Given the description of an element on the screen output the (x, y) to click on. 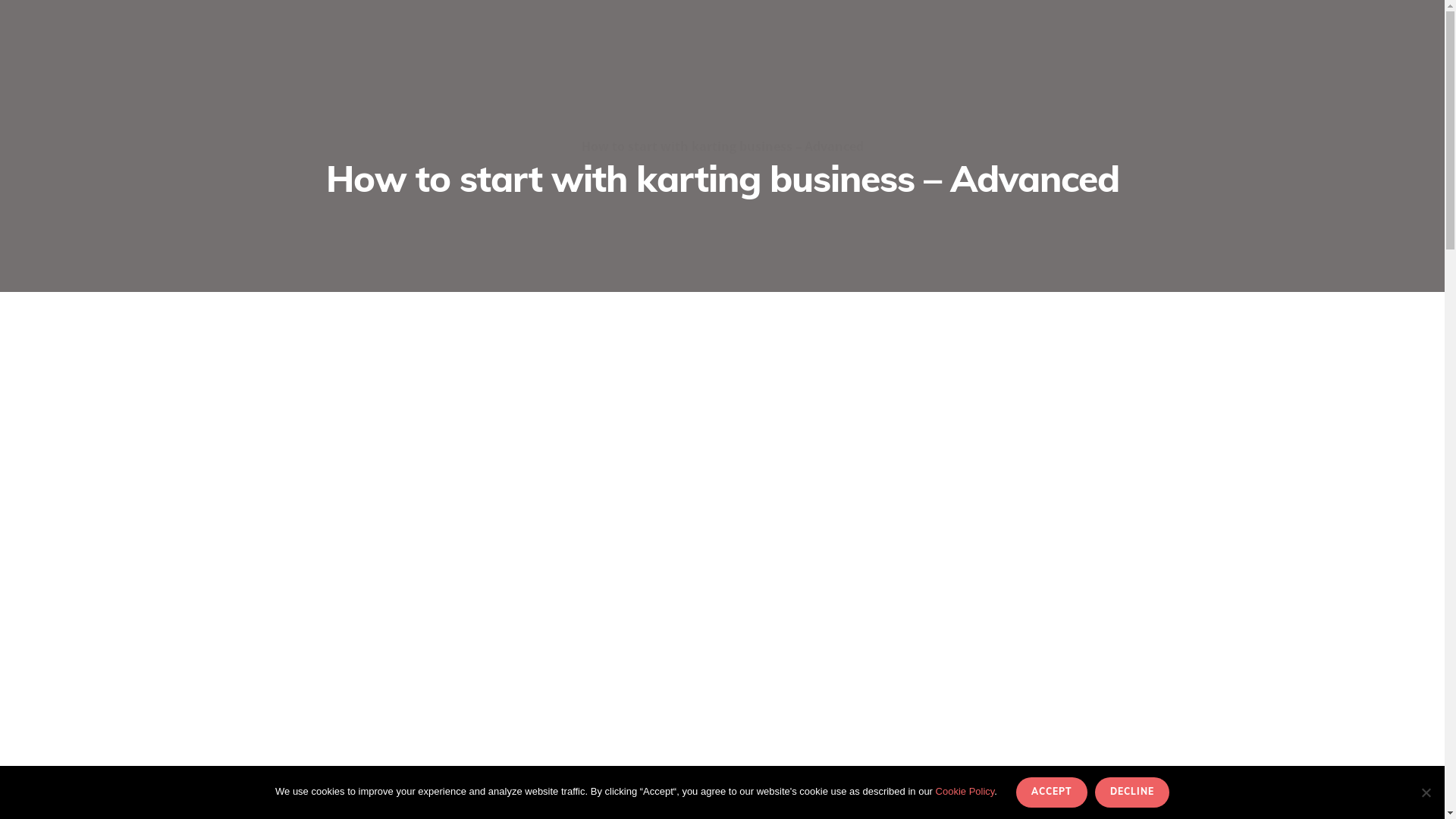
Cookie Policy Element type: text (964, 791)
ACCEPT Element type: text (1051, 792)
DECLINE Element type: text (1132, 792)
